Given the description of an element on the screen output the (x, y) to click on. 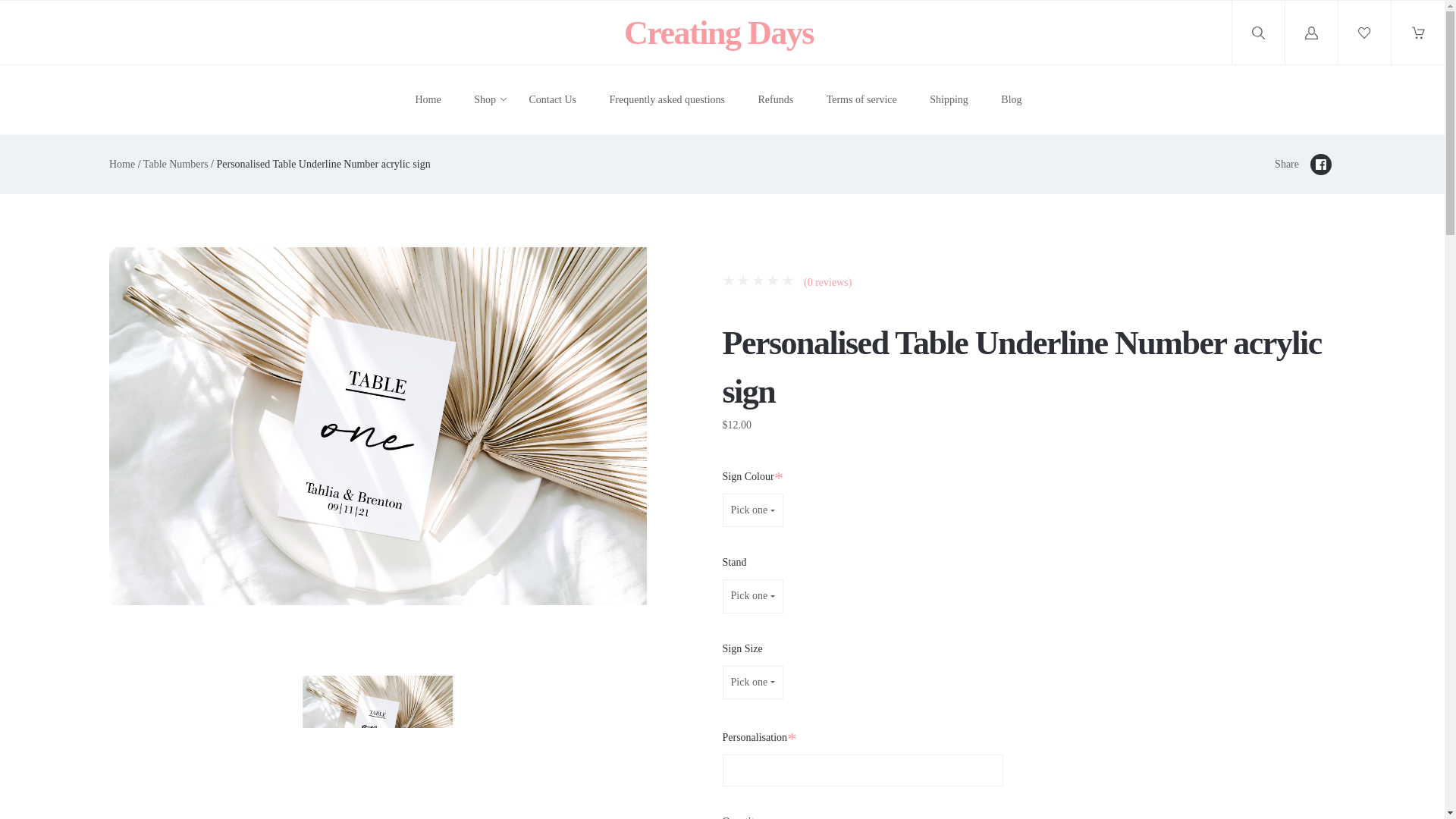
Home (427, 100)
Shipping (949, 100)
Frequently asked questions (667, 100)
Log in (1311, 32)
Refunds (775, 100)
Shop (485, 100)
Terms of service (861, 100)
Creating Days (718, 32)
Table Numbers (175, 164)
Home (122, 164)
Contact Us (552, 100)
Blog (1011, 100)
